Given the description of an element on the screen output the (x, y) to click on. 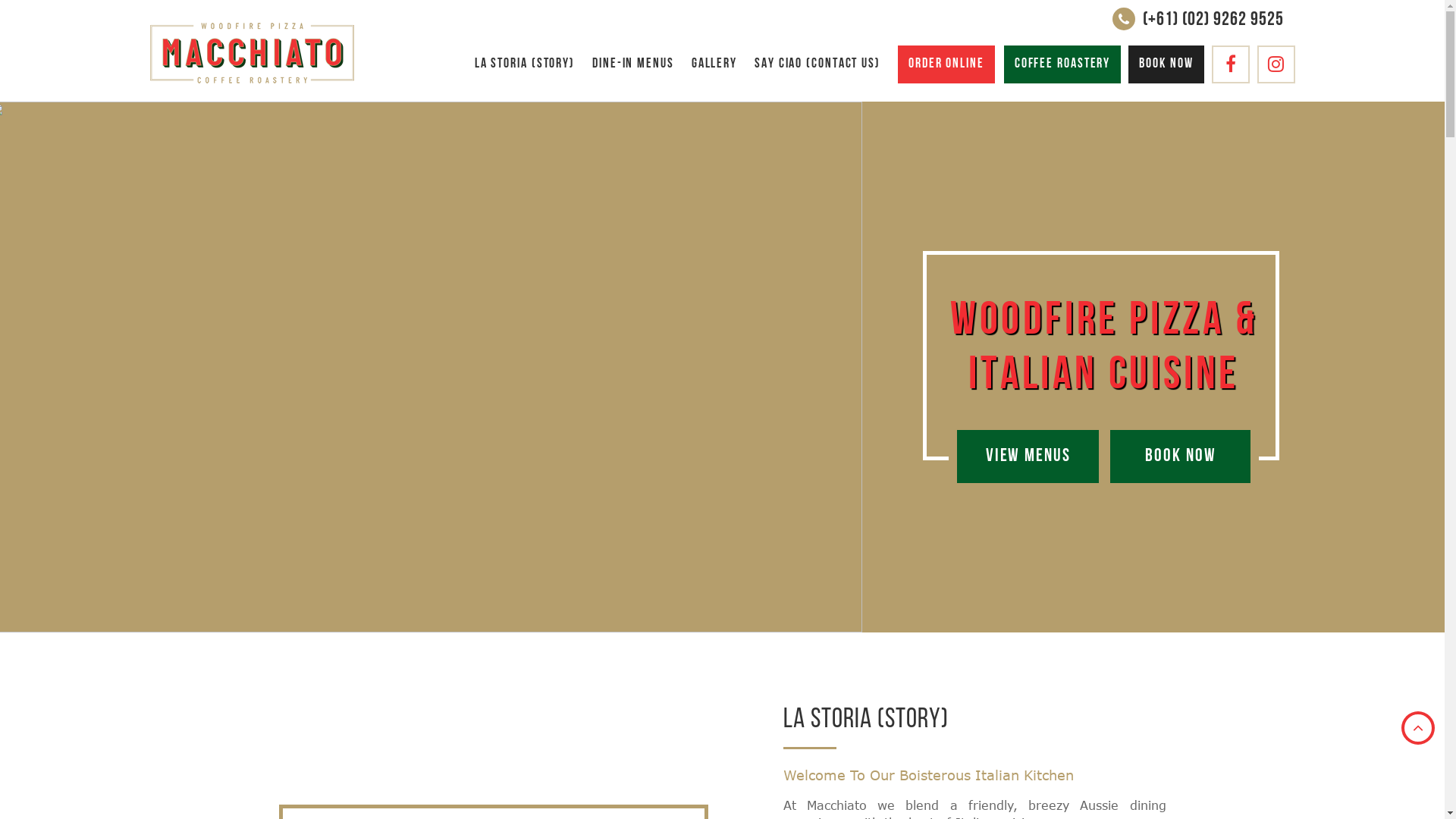
SAY CIAO (CONTACT US) Element type: text (817, 64)
Book Now Element type: text (1165, 64)
Book Now Element type: text (1180, 456)
(+61) (02) 9262 9525 Element type: text (1212, 19)
Instagram Element type: text (1276, 64)
Coffee Roastery Element type: text (1062, 64)
GALLERY Element type: text (714, 64)
LA STORIA (STORY) Element type: text (524, 64)
View Menus Element type: text (1027, 456)
ORDER ONLINE Element type: text (945, 64)
DINE-IN MENUS Element type: text (633, 64)
Facebook Element type: text (1230, 64)
